Given the description of an element on the screen output the (x, y) to click on. 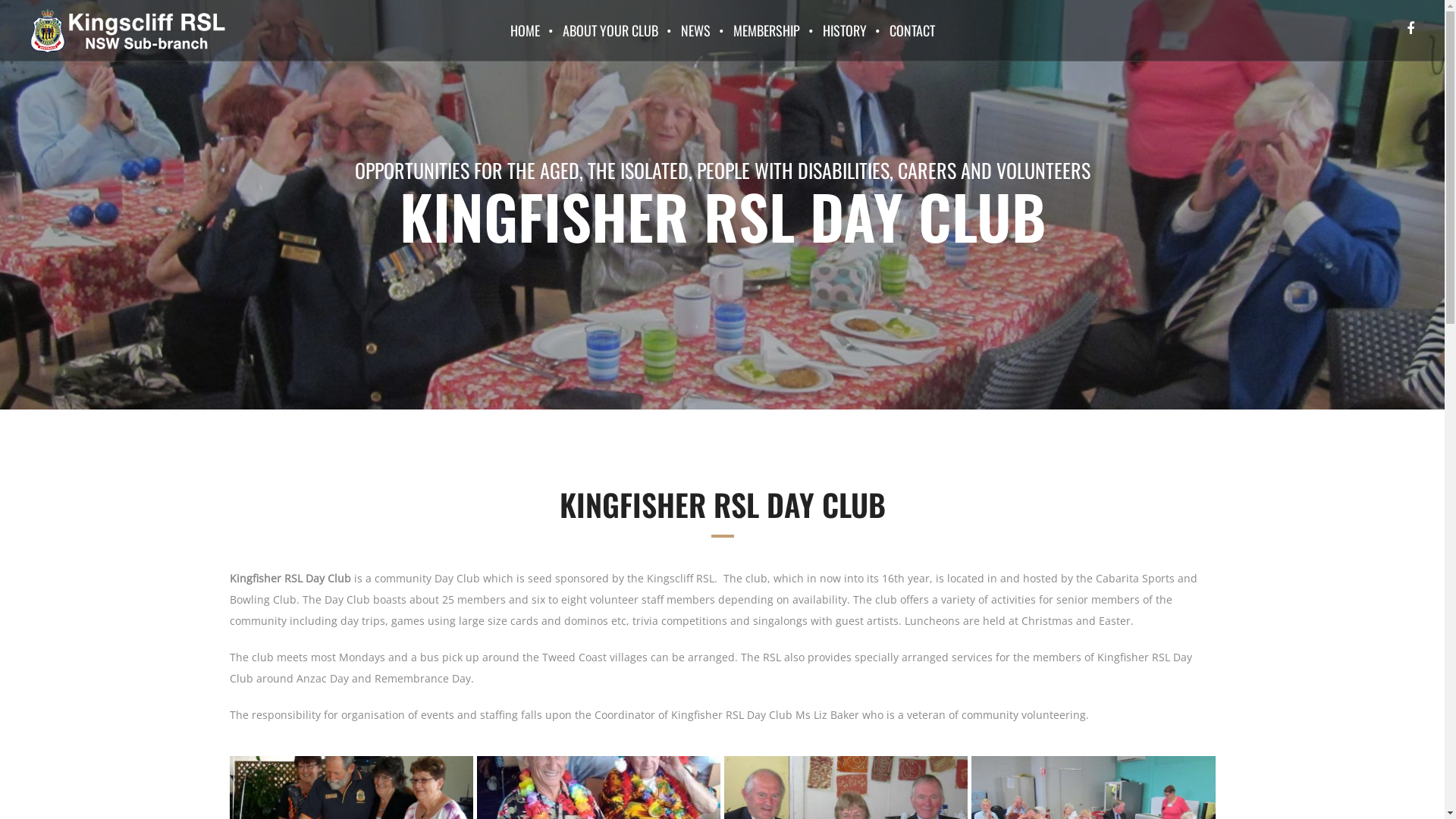
HOME Element type: text (524, 30)
NEWS Element type: text (694, 30)
ABOUT YOUR CLUB Element type: text (609, 30)
MEMBERSHIP Element type: text (766, 30)
CONTACT Element type: text (912, 30)
HISTORY Element type: text (844, 30)
